Given the description of an element on the screen output the (x, y) to click on. 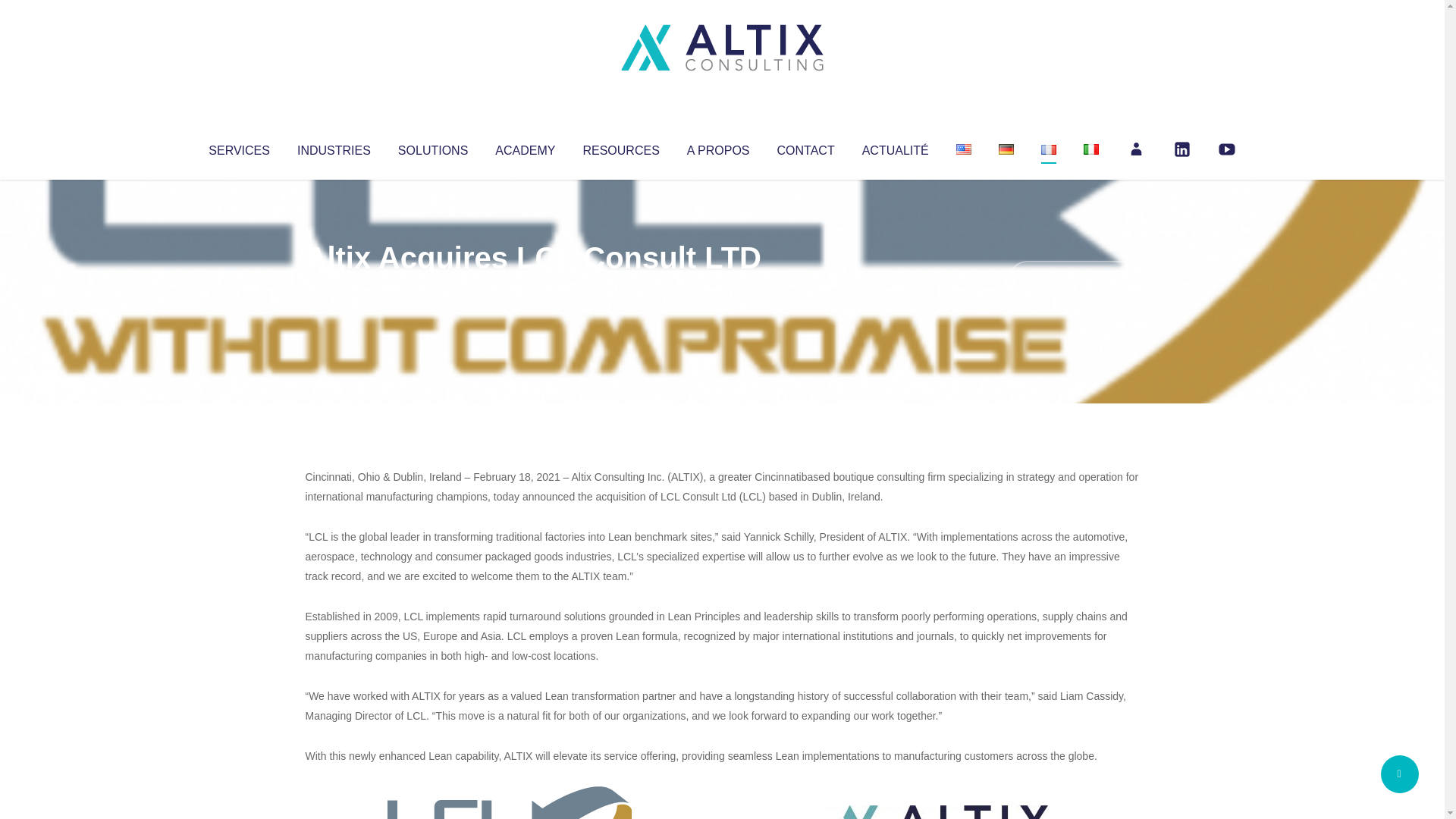
Altix (333, 287)
RESOURCES (620, 146)
No Comments (1073, 278)
Articles par Altix (333, 287)
Uncategorized (530, 287)
SERVICES (238, 146)
A PROPOS (718, 146)
SOLUTIONS (432, 146)
ACADEMY (524, 146)
INDUSTRIES (334, 146)
